Given the description of an element on the screen output the (x, y) to click on. 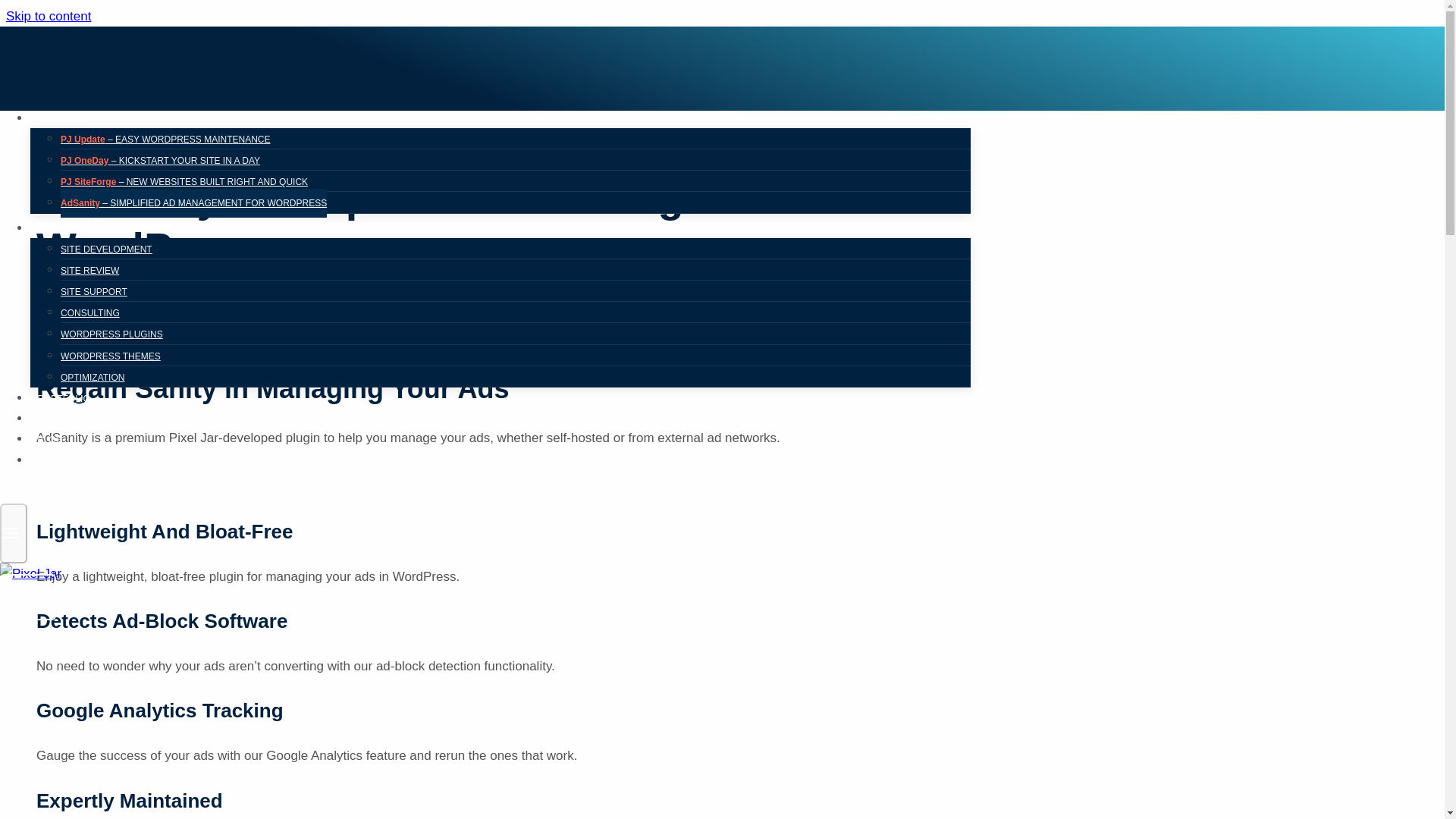
OPTIMIZATION (92, 377)
About Pixel Jar (53, 418)
Skip to content (47, 16)
ABOUT (53, 418)
SITE REVIEW (90, 270)
714-512-2107 (65, 459)
SITE SUPPORT (94, 291)
TOGGLE MENU (10, 533)
BLOG (49, 439)
SITE DEVELOPMENT (106, 249)
